Given the description of an element on the screen output the (x, y) to click on. 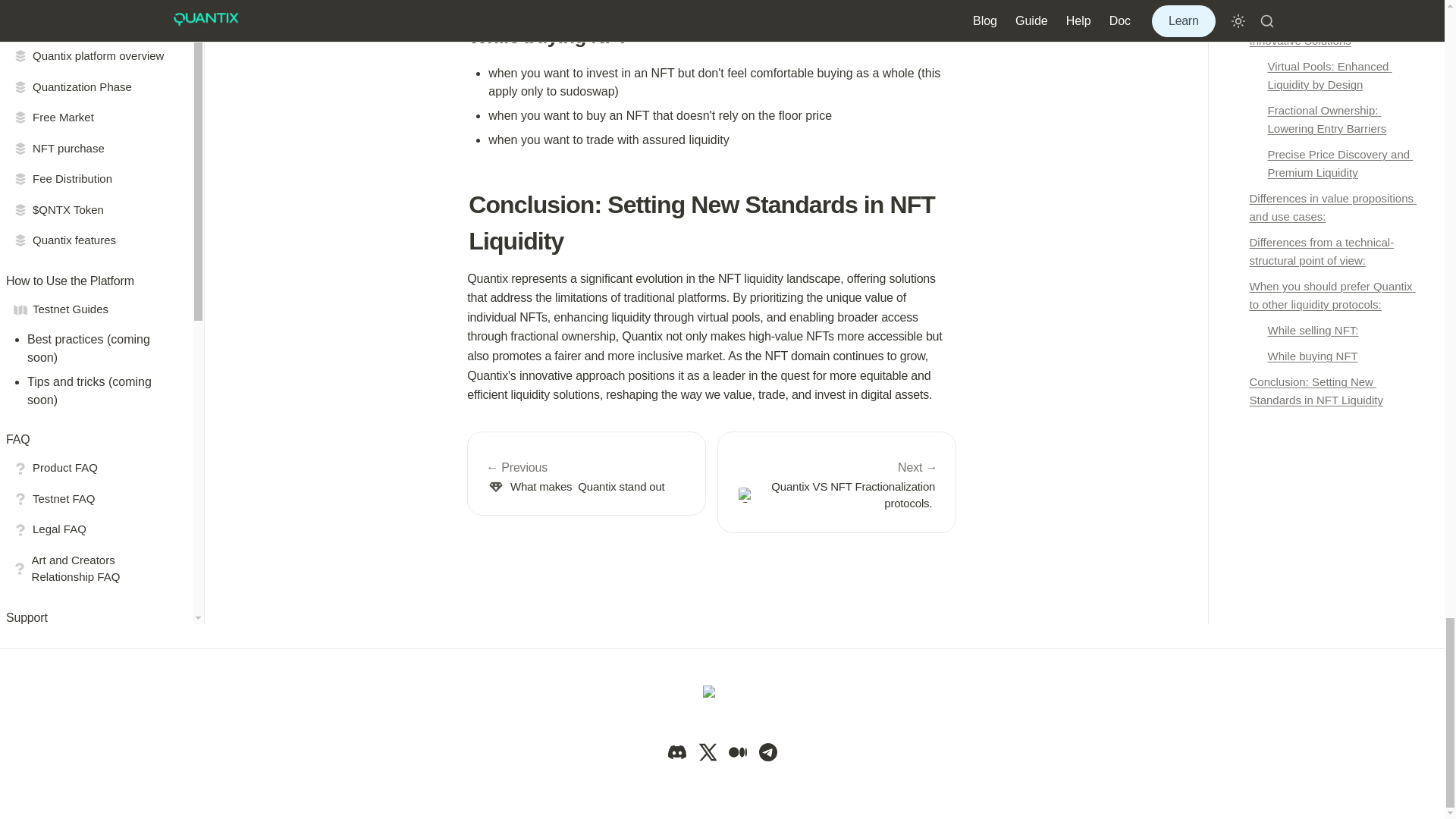
Discord (675, 751)
X (706, 751)
Quantix VS NFT Fractionalization protocols.  (836, 482)
Telegram (767, 751)
Medium (736, 751)
What makes  Quantix stand out (586, 473)
